Given the description of an element on the screen output the (x, y) to click on. 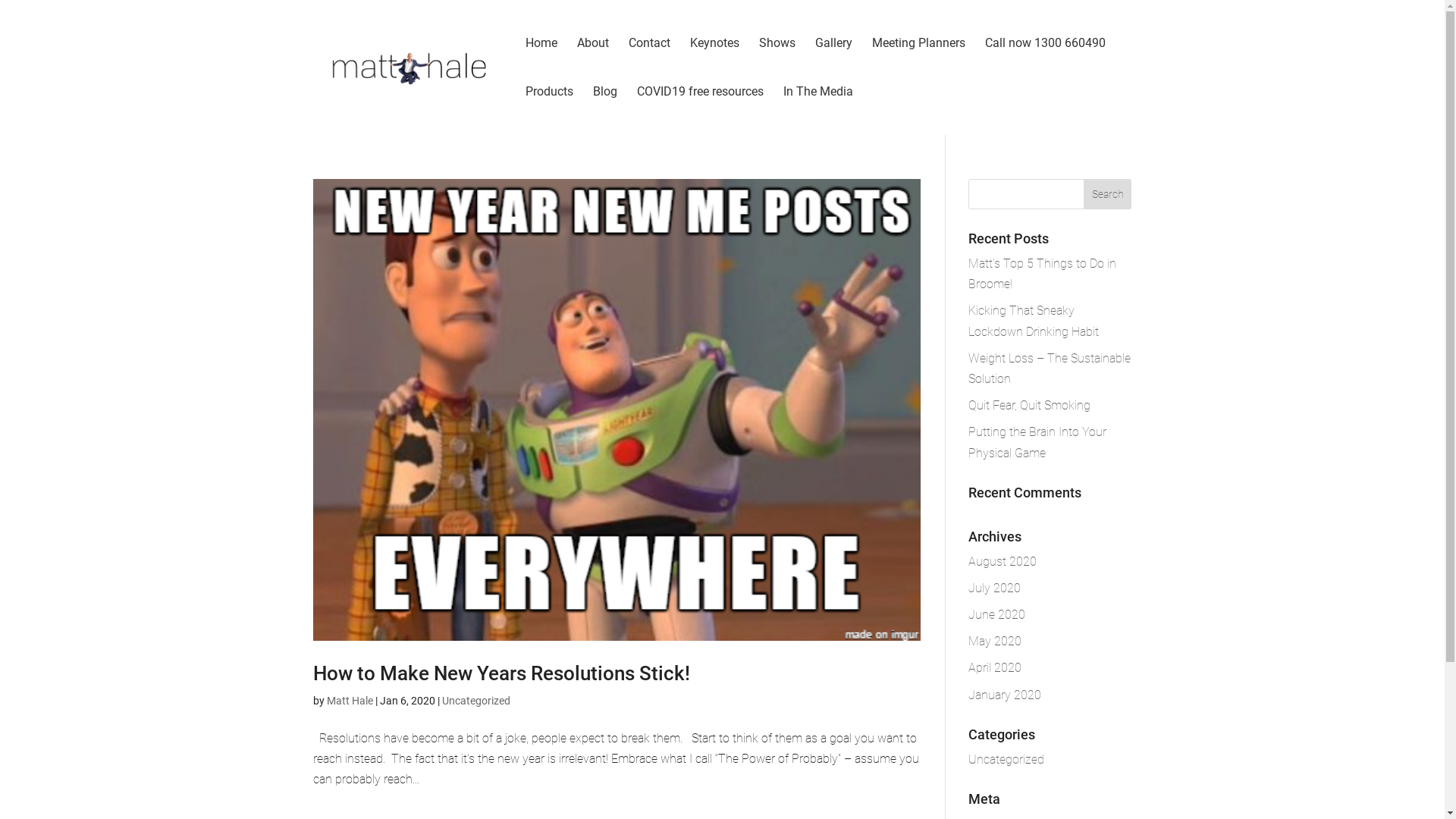
Blog Element type: text (605, 110)
About Element type: text (592, 61)
Meeting Planners Element type: text (918, 61)
Products Element type: text (548, 110)
May 2020 Element type: text (994, 640)
Uncategorized Element type: text (1006, 759)
Matt Hale Element type: text (349, 700)
August 2020 Element type: text (1002, 561)
Call now 1300 660490 Element type: text (1044, 61)
June 2020 Element type: text (996, 614)
Putting the Brain Into Your Physical Game Element type: text (1037, 441)
January 2020 Element type: text (1004, 694)
Uncategorized Element type: text (475, 700)
Gallery Element type: text (832, 61)
Keynotes Element type: text (714, 61)
Quit Fear, Quit Smoking Element type: text (1029, 405)
Search Element type: text (1107, 193)
Shows Element type: text (776, 61)
COVID19 free resources Element type: text (700, 110)
April 2020 Element type: text (994, 667)
Home Element type: text (540, 61)
Contact Element type: text (648, 61)
July 2020 Element type: text (994, 587)
Kicking That Sneaky Lockdown Drinking Habit Element type: text (1033, 320)
How to Make New Years Resolutions Stick! Element type: text (500, 673)
In The Media Element type: text (817, 110)
